Given the description of an element on the screen output the (x, y) to click on. 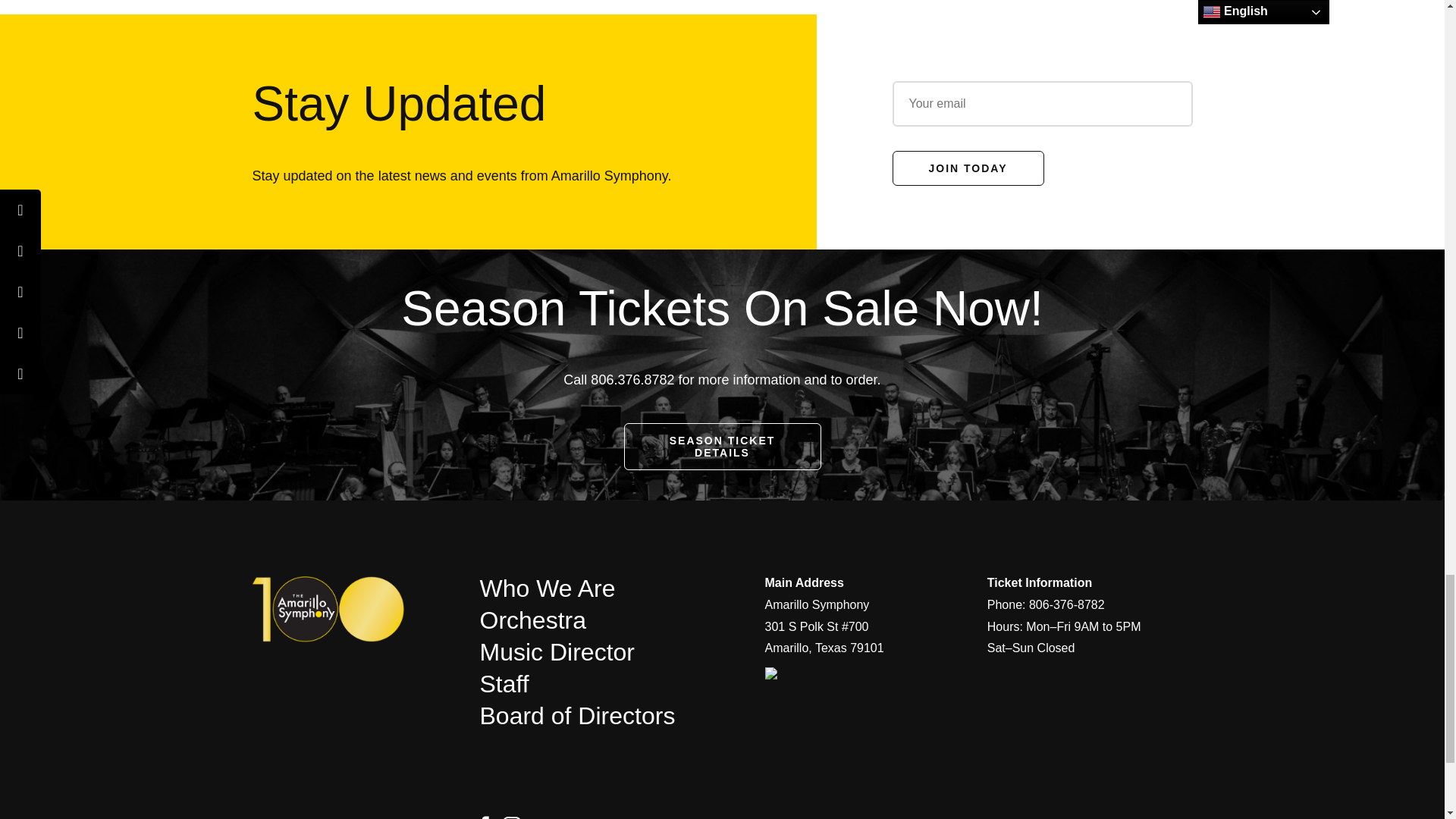
Join Today (967, 167)
